Given the description of an element on the screen output the (x, y) to click on. 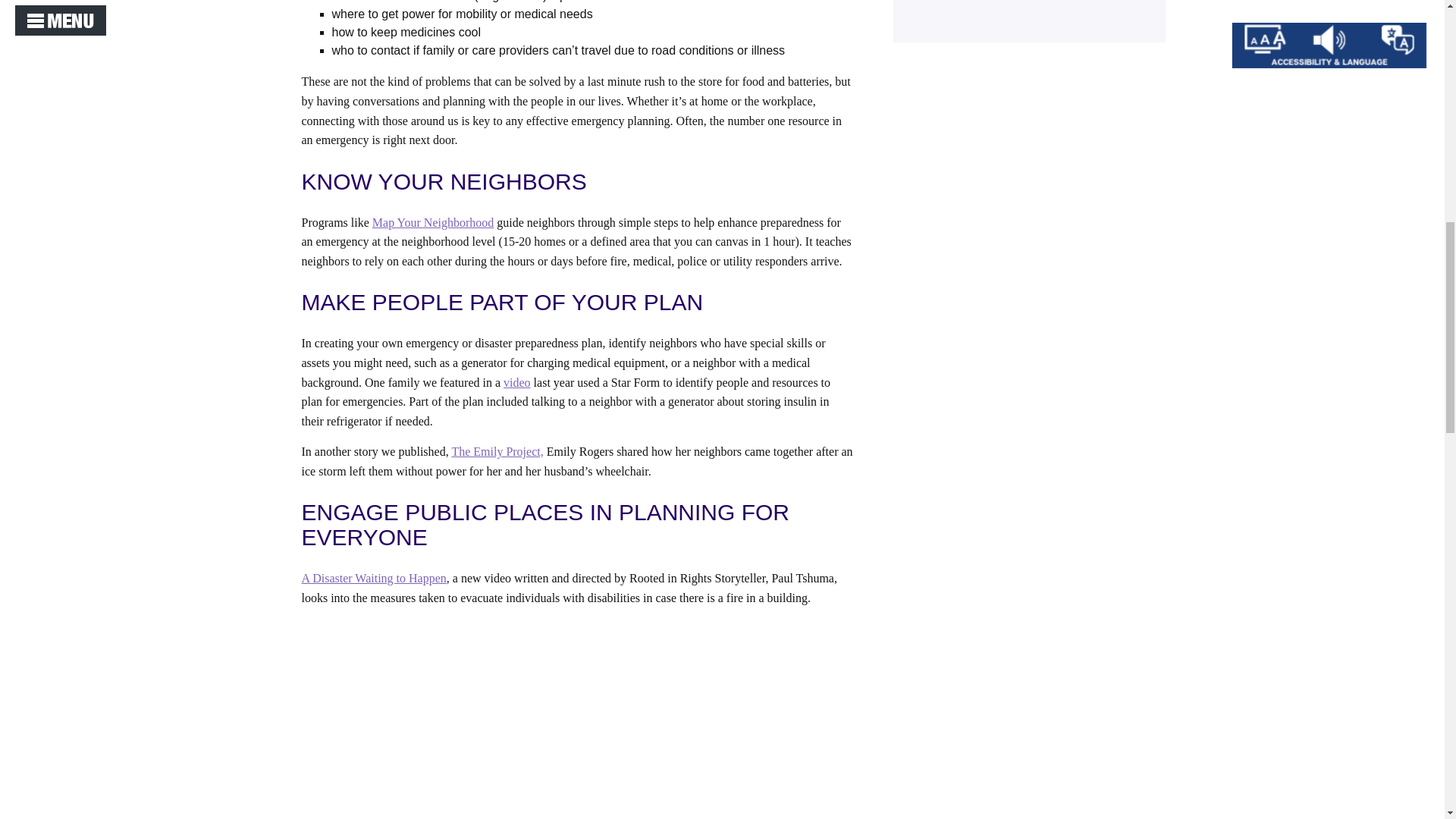
The Emily Project, (497, 451)
Map Your Neighborhood (432, 222)
video (517, 382)
A Disaster Waiting to Happen (373, 577)
